Given the description of an element on the screen output the (x, y) to click on. 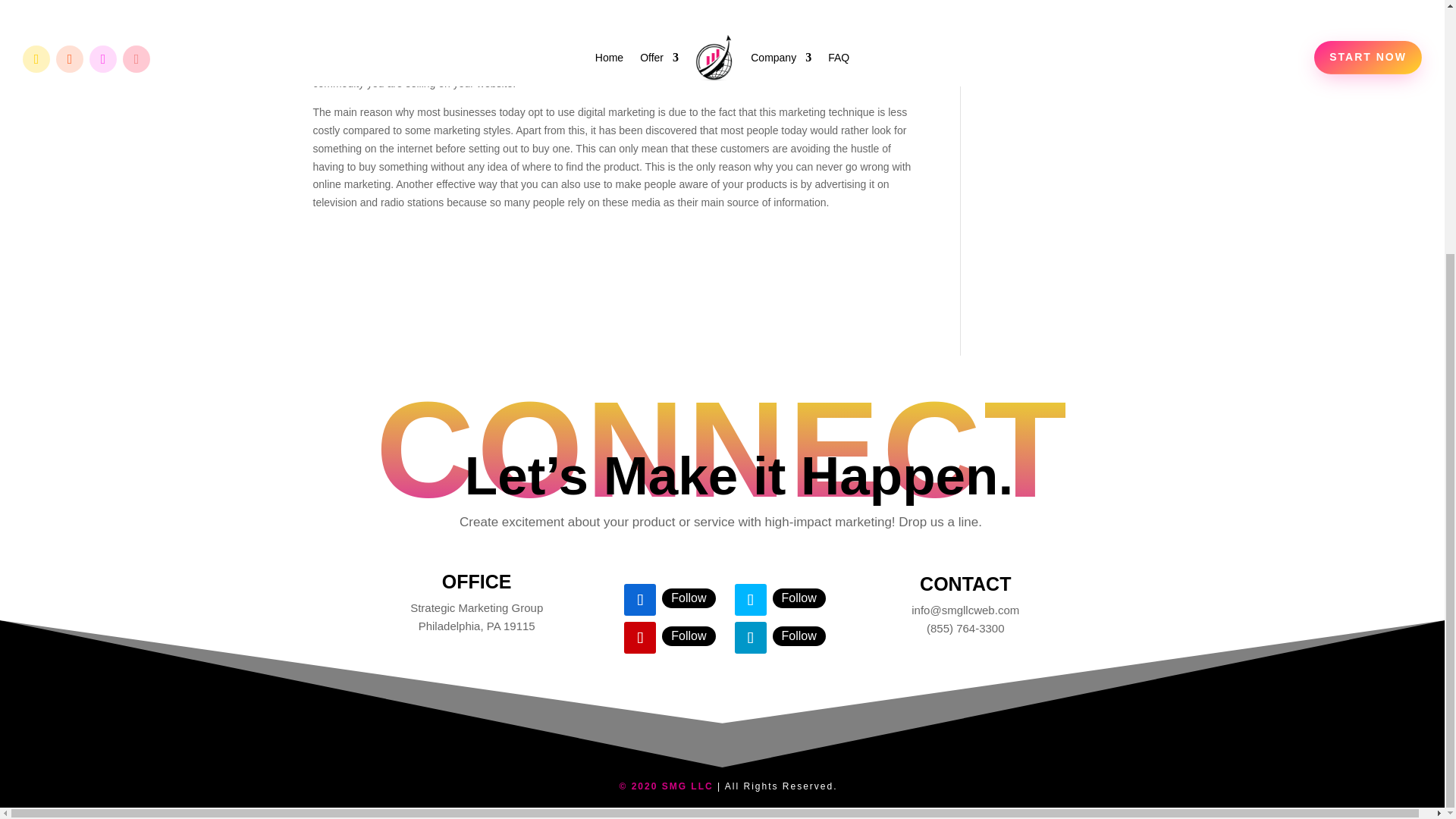
Facebook (688, 598)
LinkedIn (799, 636)
Follow on Facebook (640, 599)
Follow on Pinterest (640, 637)
Pinterest (688, 636)
X (799, 598)
Follow on X (751, 599)
Follow on LinkedIn (751, 637)
